Given the description of an element on the screen output the (x, y) to click on. 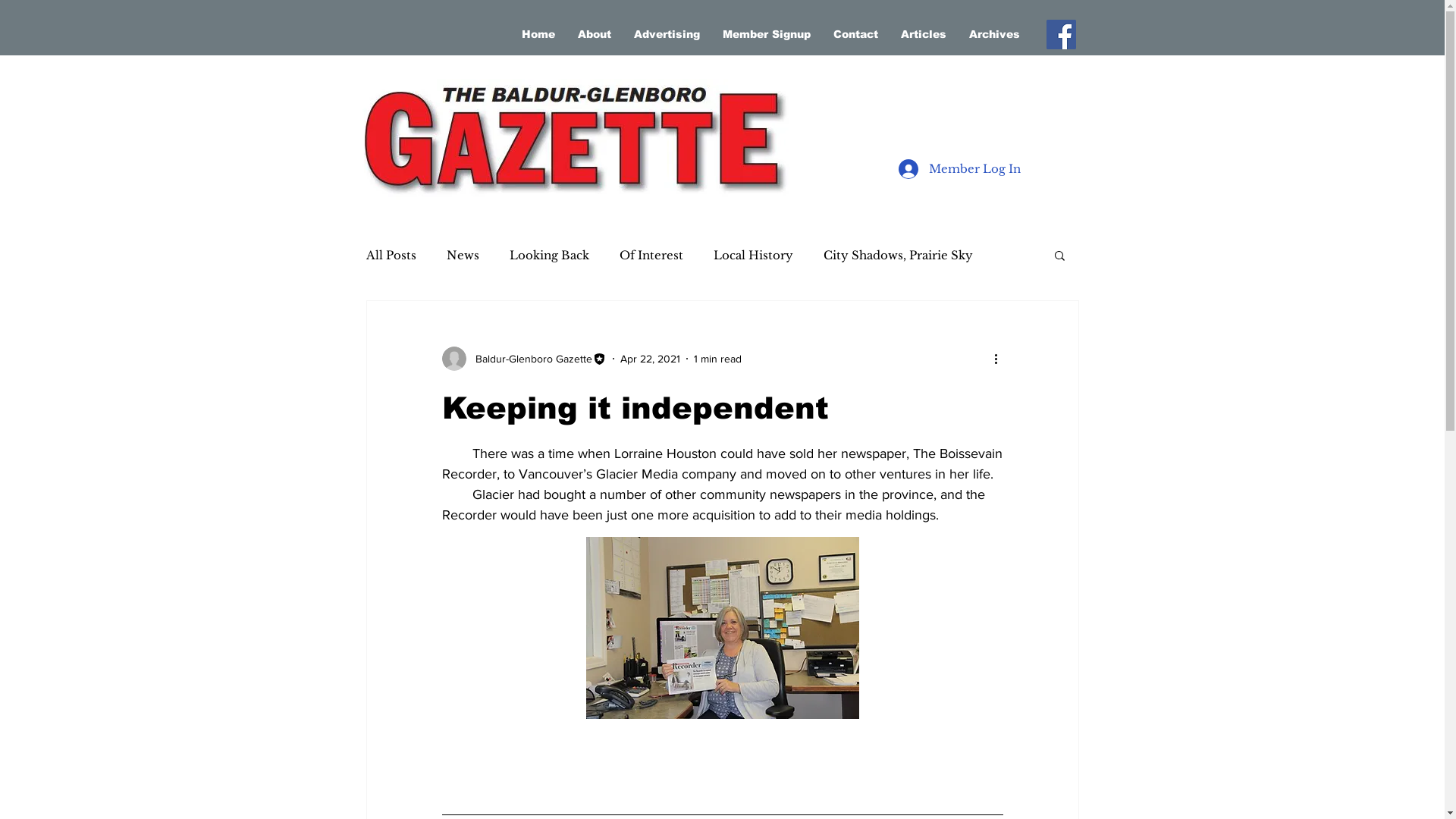
Contact Element type: text (855, 33)
Home Element type: text (537, 33)
Archives Element type: text (993, 33)
All Posts Element type: text (390, 254)
Advertising Element type: text (665, 33)
About Element type: text (593, 33)
Member Log In Element type: text (958, 168)
Baldur-Glenboro Gazette Element type: text (523, 358)
City Shadows, Prairie Sky Element type: text (897, 254)
Of Interest Element type: text (650, 254)
Looking Back Element type: text (549, 254)
Local History Element type: text (752, 254)
News Element type: text (461, 254)
Member Signup Element type: text (766, 33)
Articles Element type: text (922, 33)
